Given the description of an element on the screen output the (x, y) to click on. 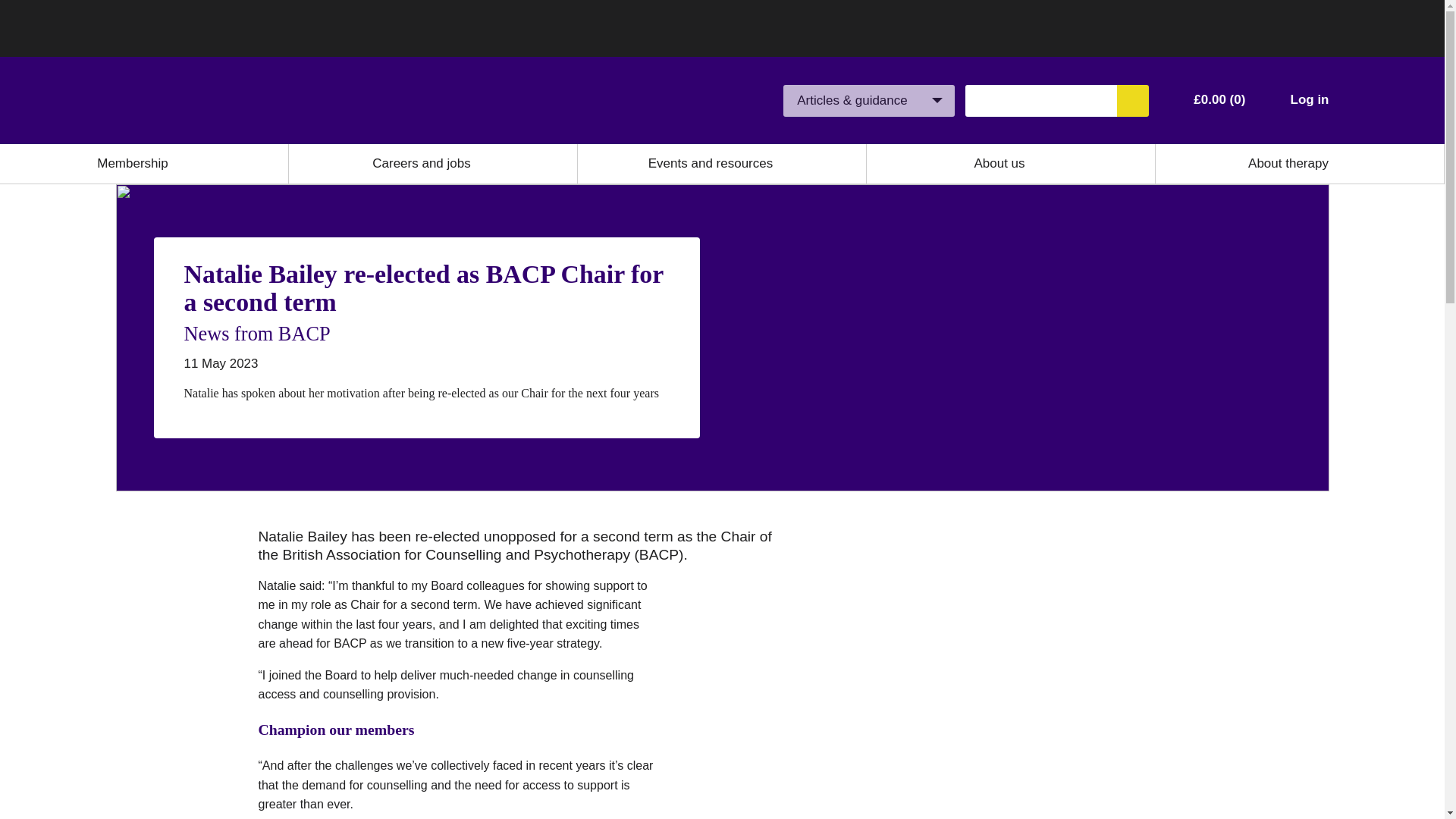
Search the BACP website (1132, 101)
Events and resources (710, 163)
Careers and jobs (421, 163)
Log in (1309, 99)
Membership (132, 163)
